Given the description of an element on the screen output the (x, y) to click on. 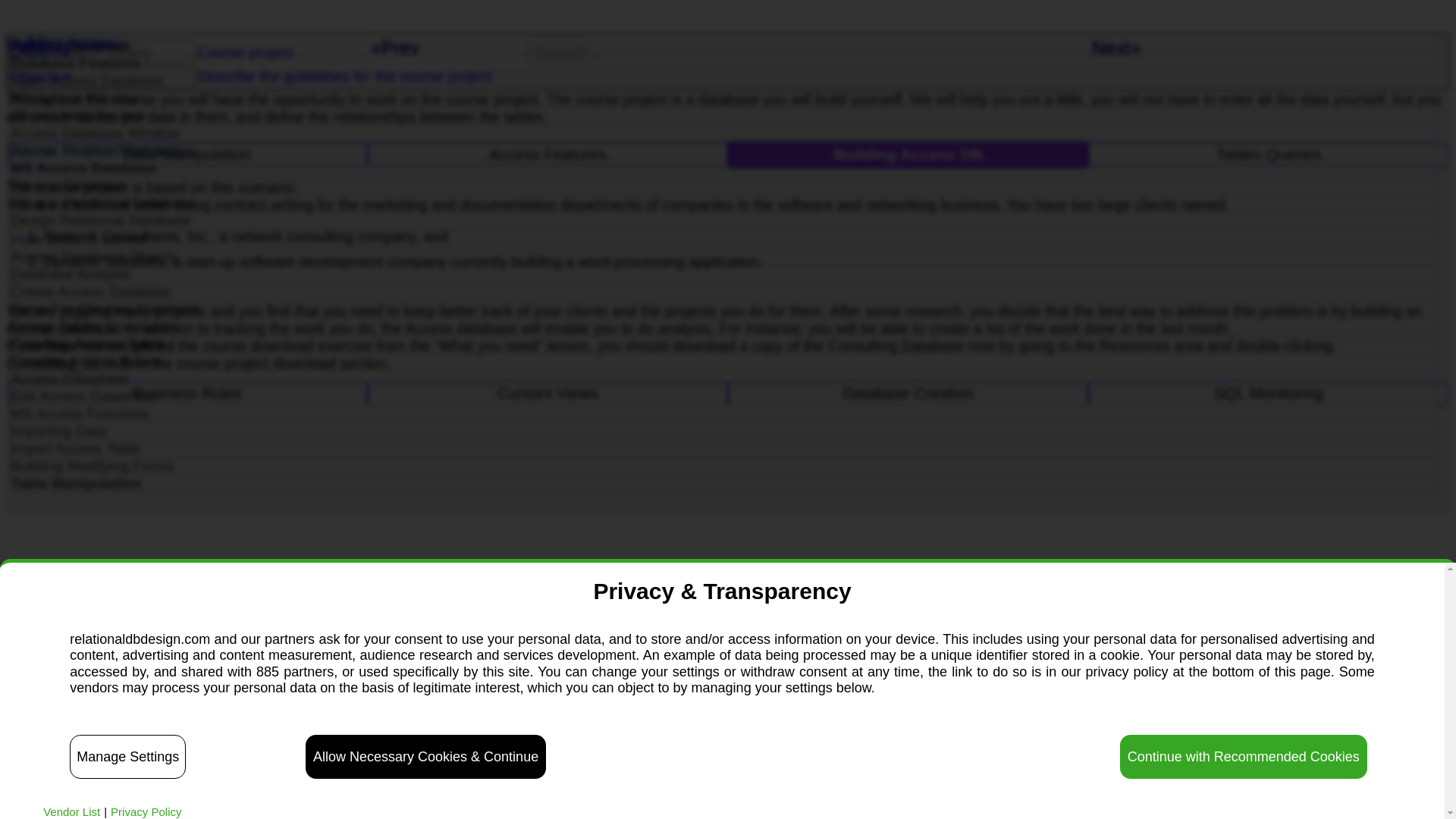
Access Interface Conclusion (722, 150)
Create Access Database (722, 291)
Business Rules (187, 393)
Steps For Creating Database (722, 309)
Importing Data (722, 431)
Database Analysis (722, 274)
Access Datasheet (722, 379)
Building Modifying Forms (722, 466)
Access Help System (722, 115)
Data Manipulation (187, 154)
